Given the description of an element on the screen output the (x, y) to click on. 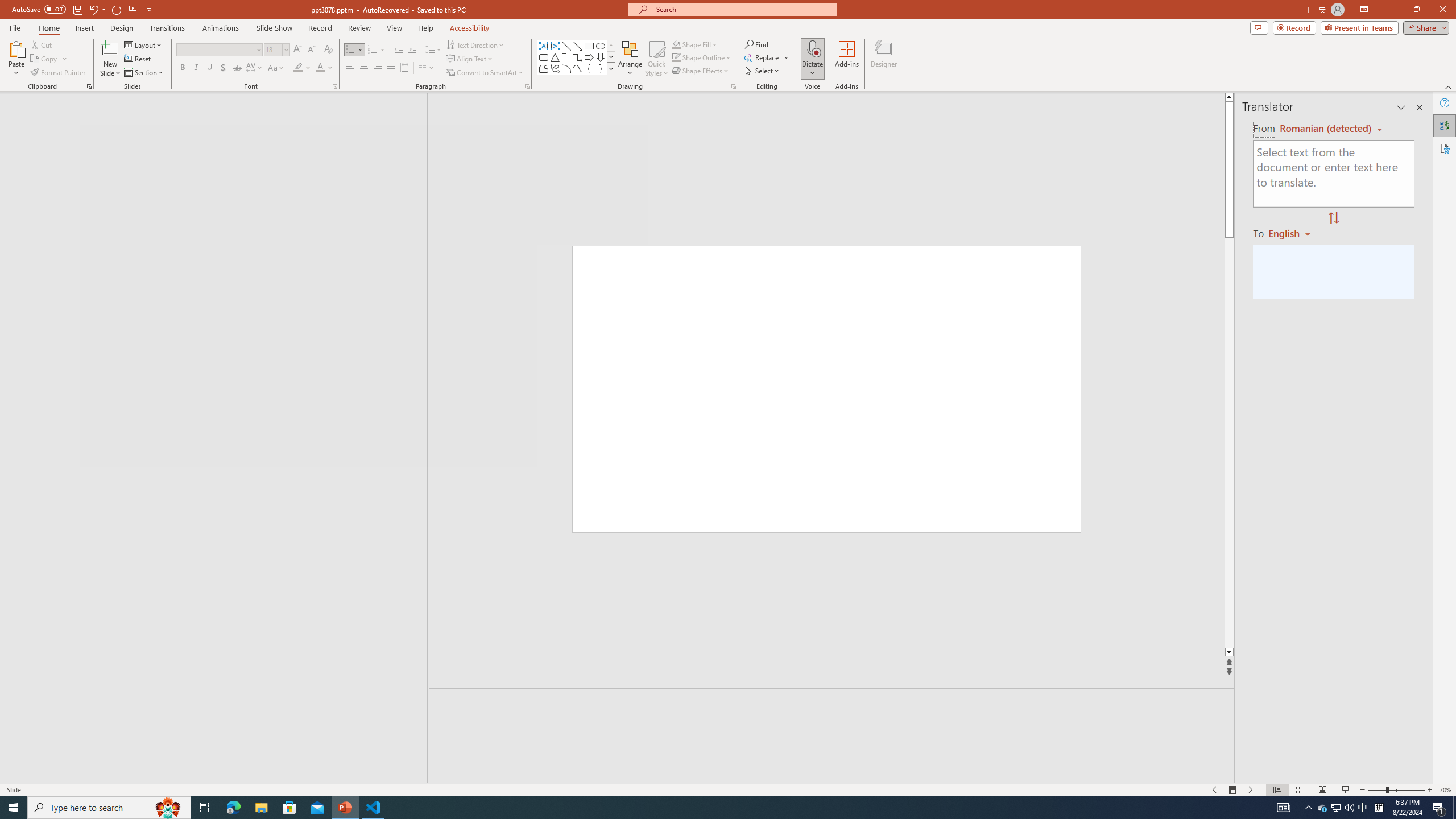
Zoom 70% (1445, 790)
